Given the description of an element on the screen output the (x, y) to click on. 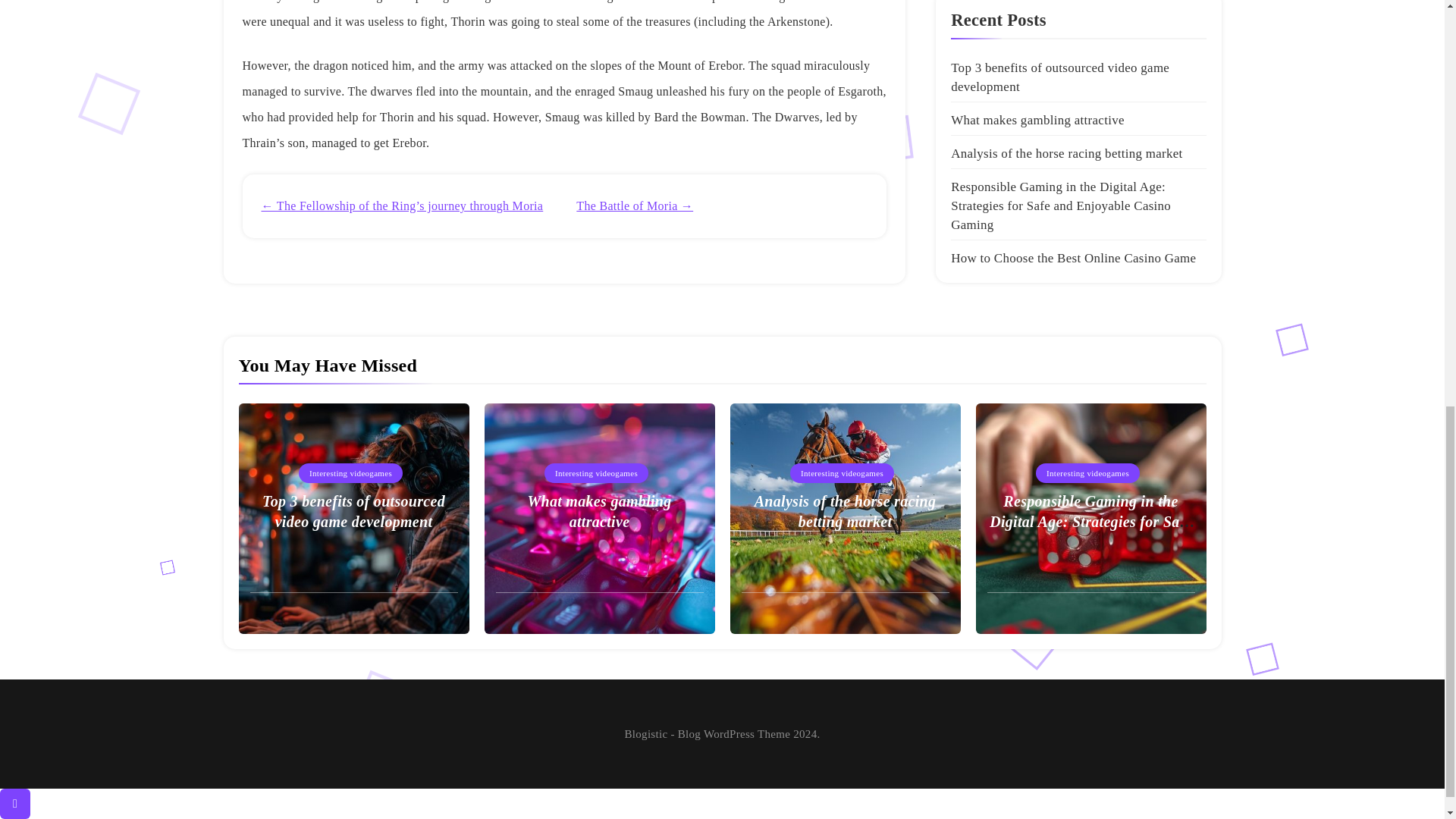
Interesting videogames (841, 473)
Analysis of the horse racing betting market (1066, 153)
Interesting videogames (350, 473)
Top 3 benefits of outsourced video game development (353, 512)
How to Choose the Best Online Casino Game (1072, 257)
Interesting videogames (1087, 473)
Interesting videogames (595, 473)
What makes gambling attractive (1037, 120)
Analysis of the horse racing betting market (845, 512)
Top 3 benefits of outsourced video game development (1059, 77)
